Given the description of an element on the screen output the (x, y) to click on. 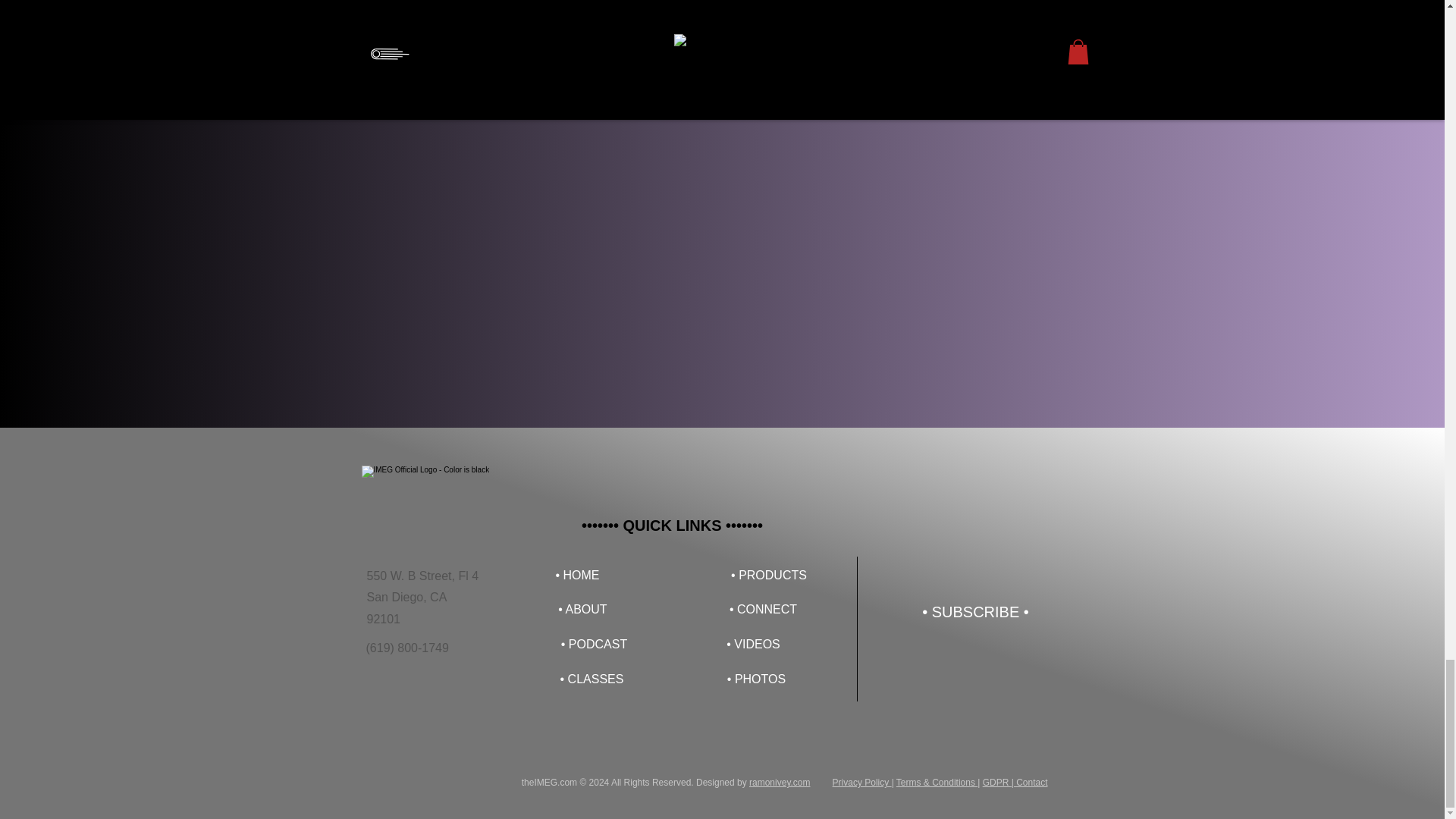
Privacy Policy  (861, 782)
ramonivey.com (779, 782)
